Given the description of an element on the screen output the (x, y) to click on. 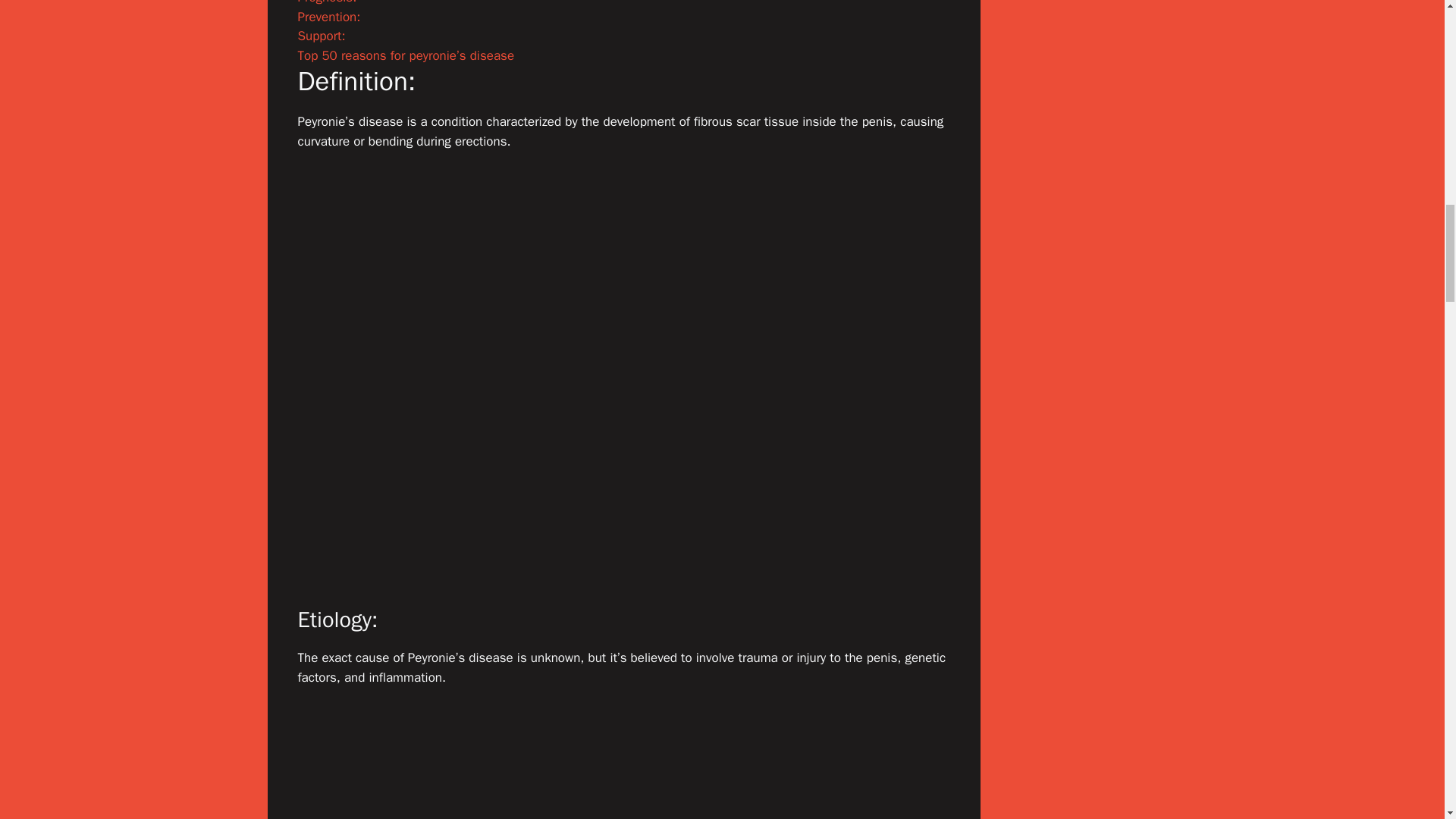
Support: (321, 35)
Prevention: (328, 17)
Prognosis: (326, 2)
